Given the description of an element on the screen output the (x, y) to click on. 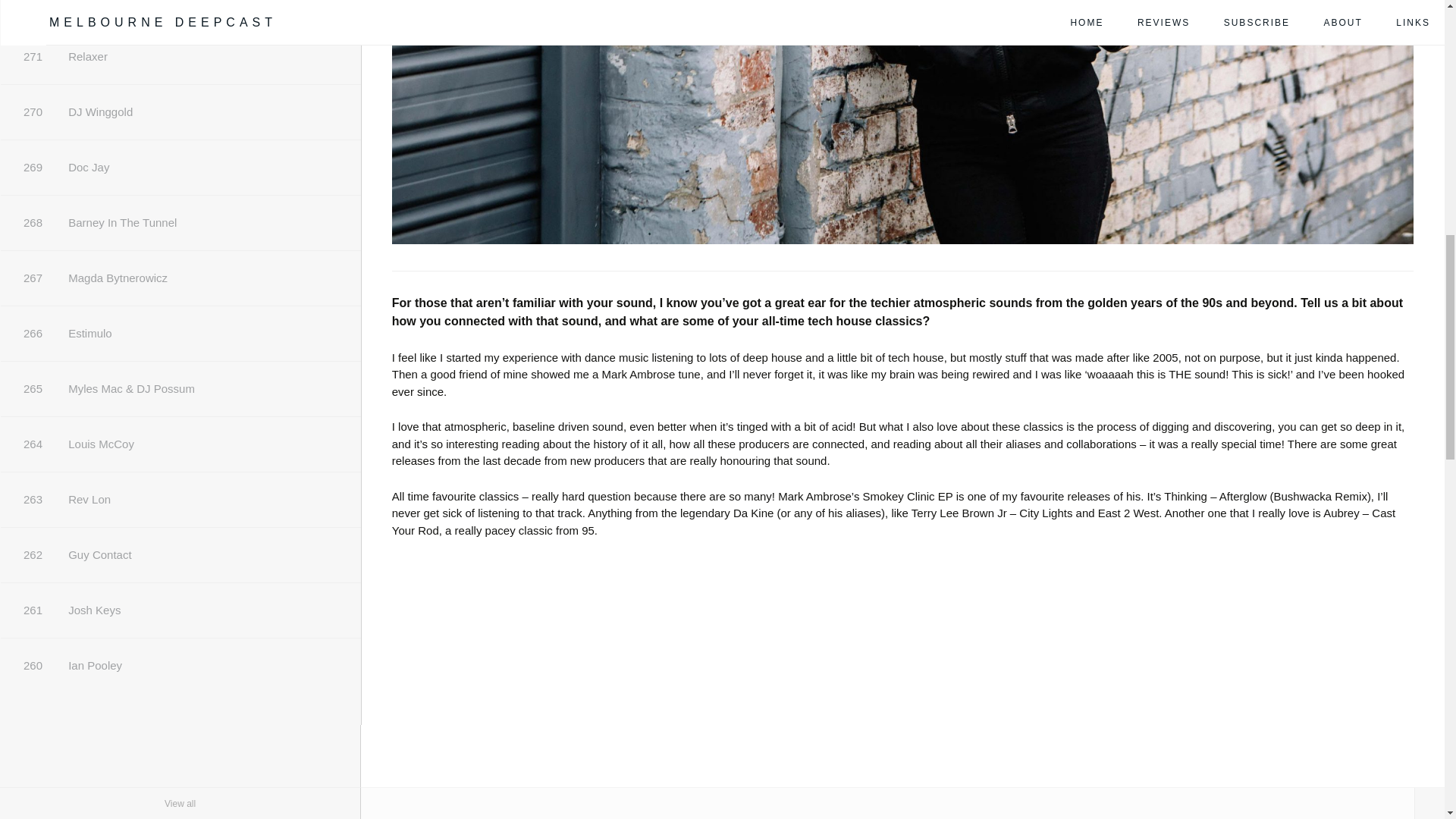
271 Relaxer (181, 56)
261 Josh Keys (181, 610)
267 Magda Bytnerowicz (181, 277)
268 Barney In The Tunnel (181, 222)
269 Doc Jay (181, 167)
264 Louis McCoy (181, 443)
266 Estimulo (181, 333)
270 DJ Winggold (181, 112)
260 Ian Pooley (181, 665)
